Given the description of an element on the screen output the (x, y) to click on. 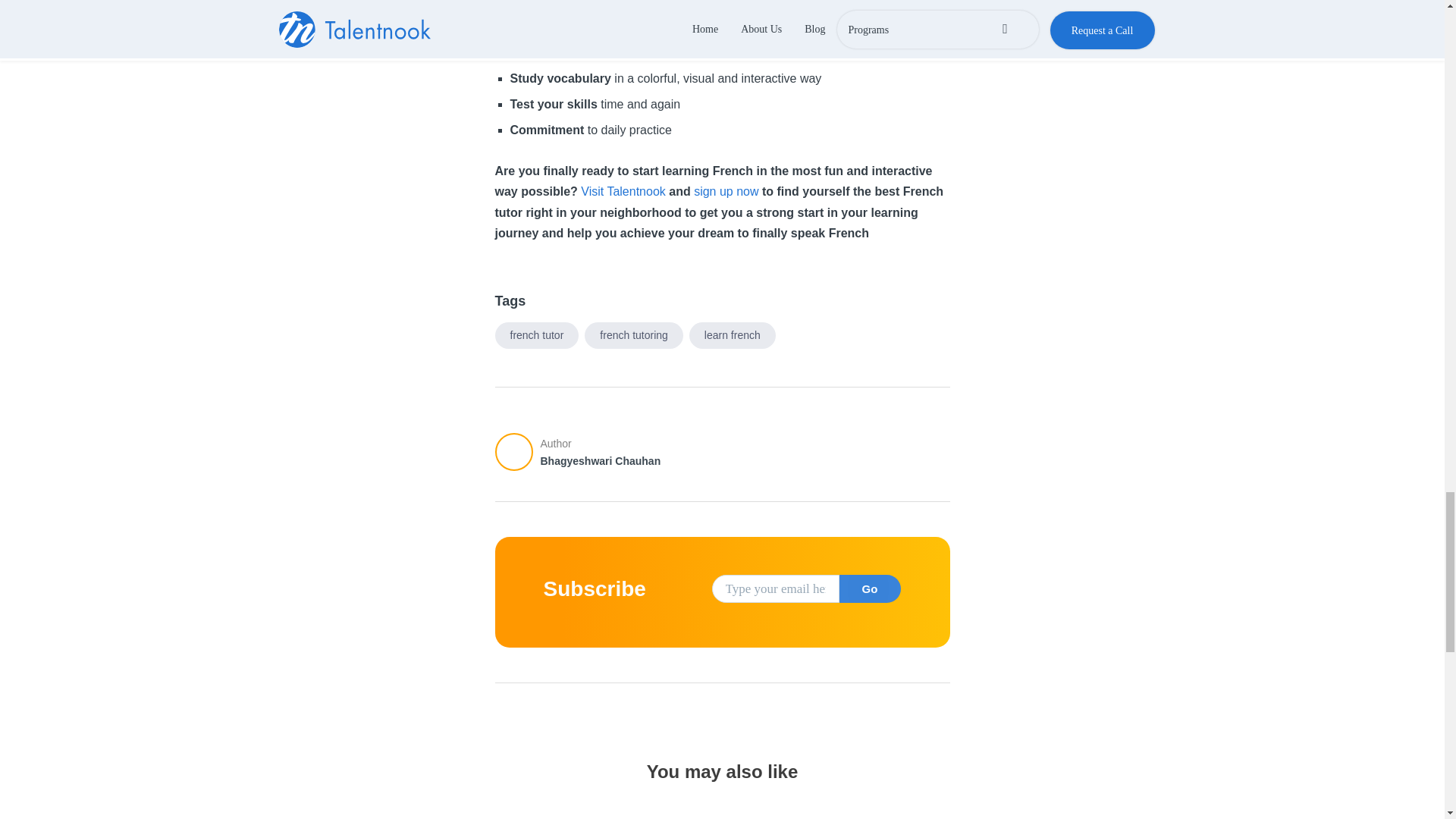
sign up now (726, 191)
french tutor (536, 335)
Visit Talentnook (622, 191)
Go (868, 588)
Posts by   (517, 451)
french tutoring (633, 335)
